Given the description of an element on the screen output the (x, y) to click on. 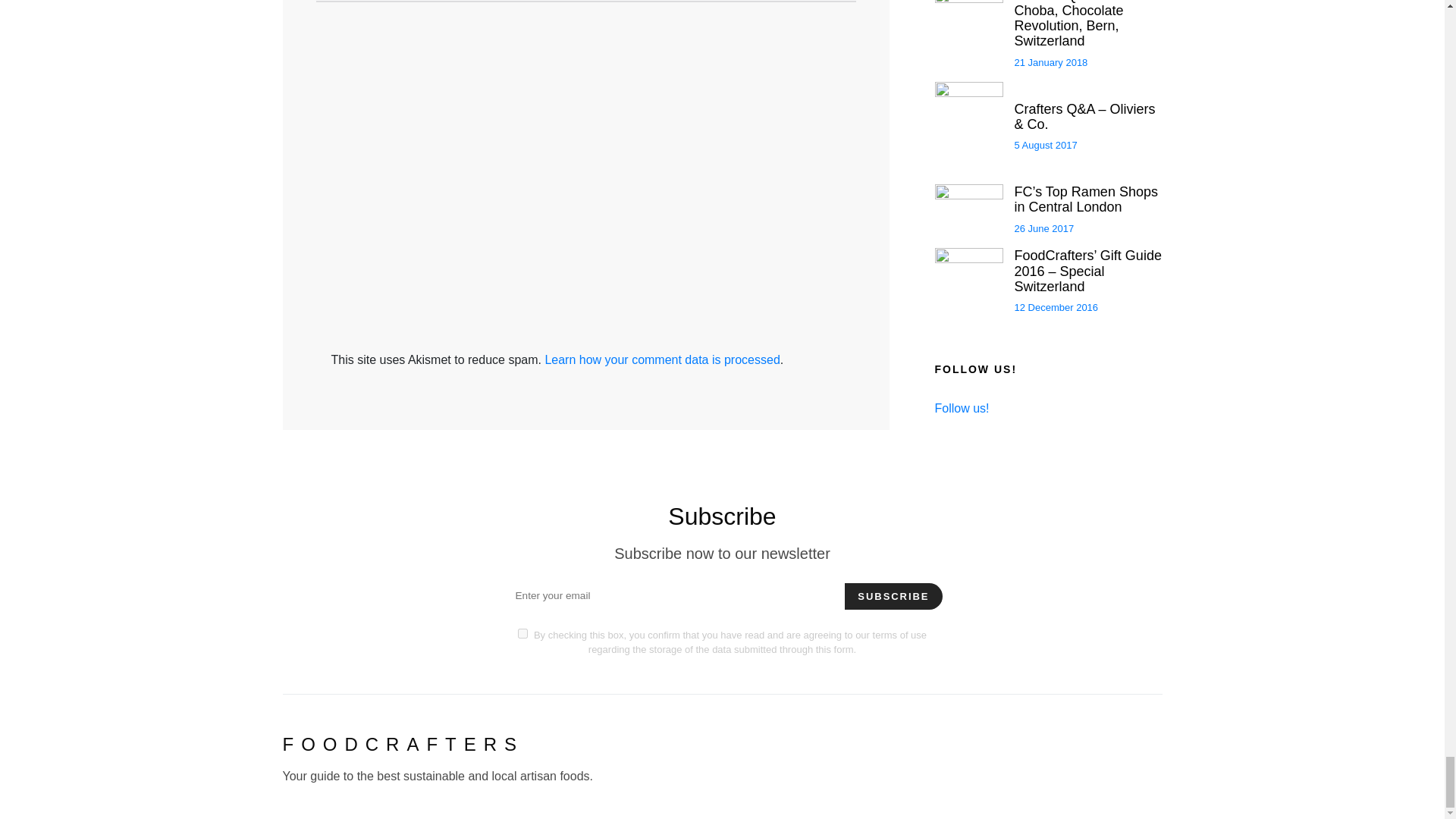
on (522, 633)
